Given the description of an element on the screen output the (x, y) to click on. 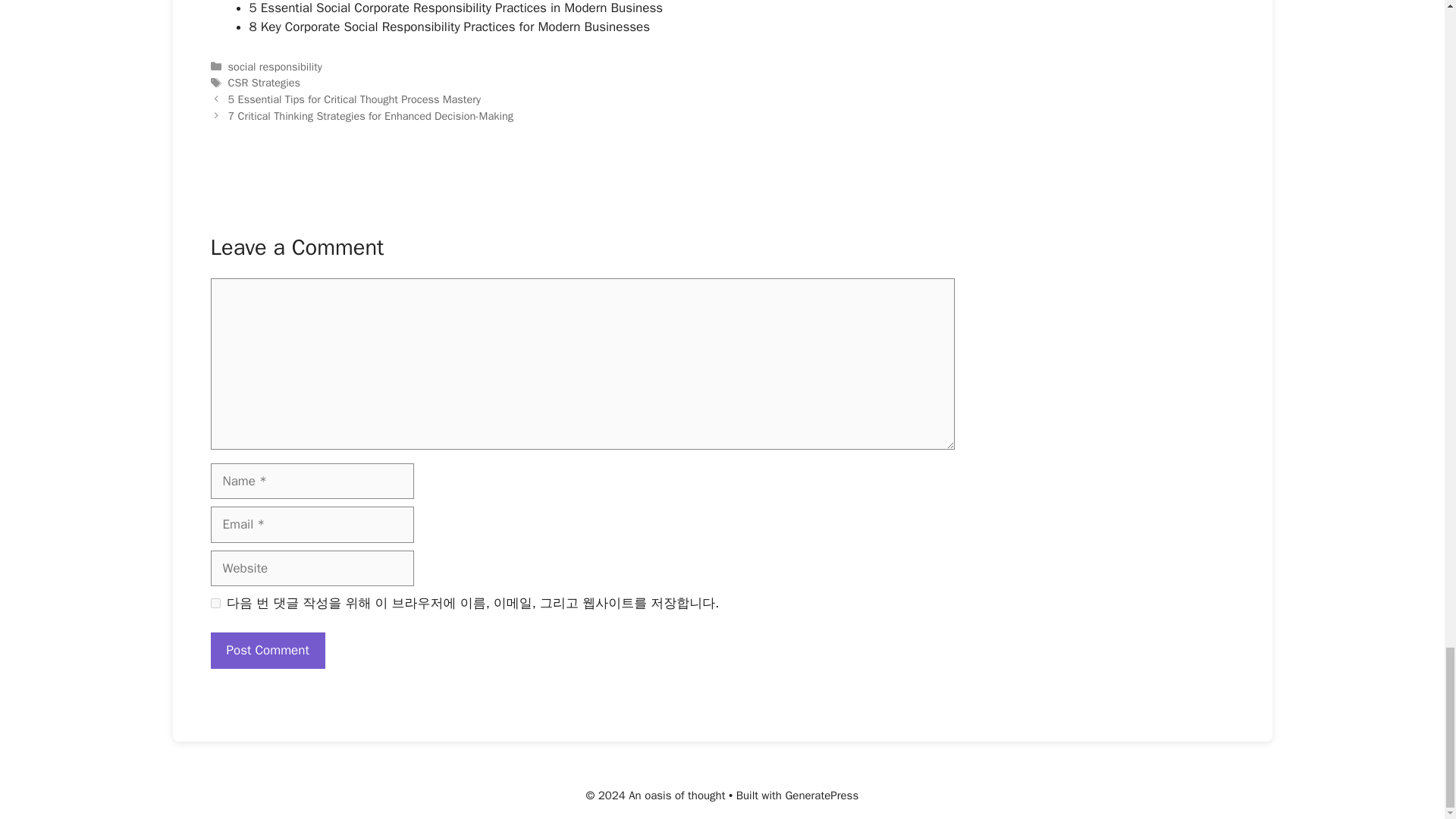
7 Critical Thinking Strategies for Enhanced Decision-Making (370, 115)
5 Essential Tips for Critical Thought Process Mastery (354, 99)
social responsibility (274, 66)
CSR Strategies (263, 82)
Post Comment (267, 650)
yes (216, 603)
